Given the description of an element on the screen output the (x, y) to click on. 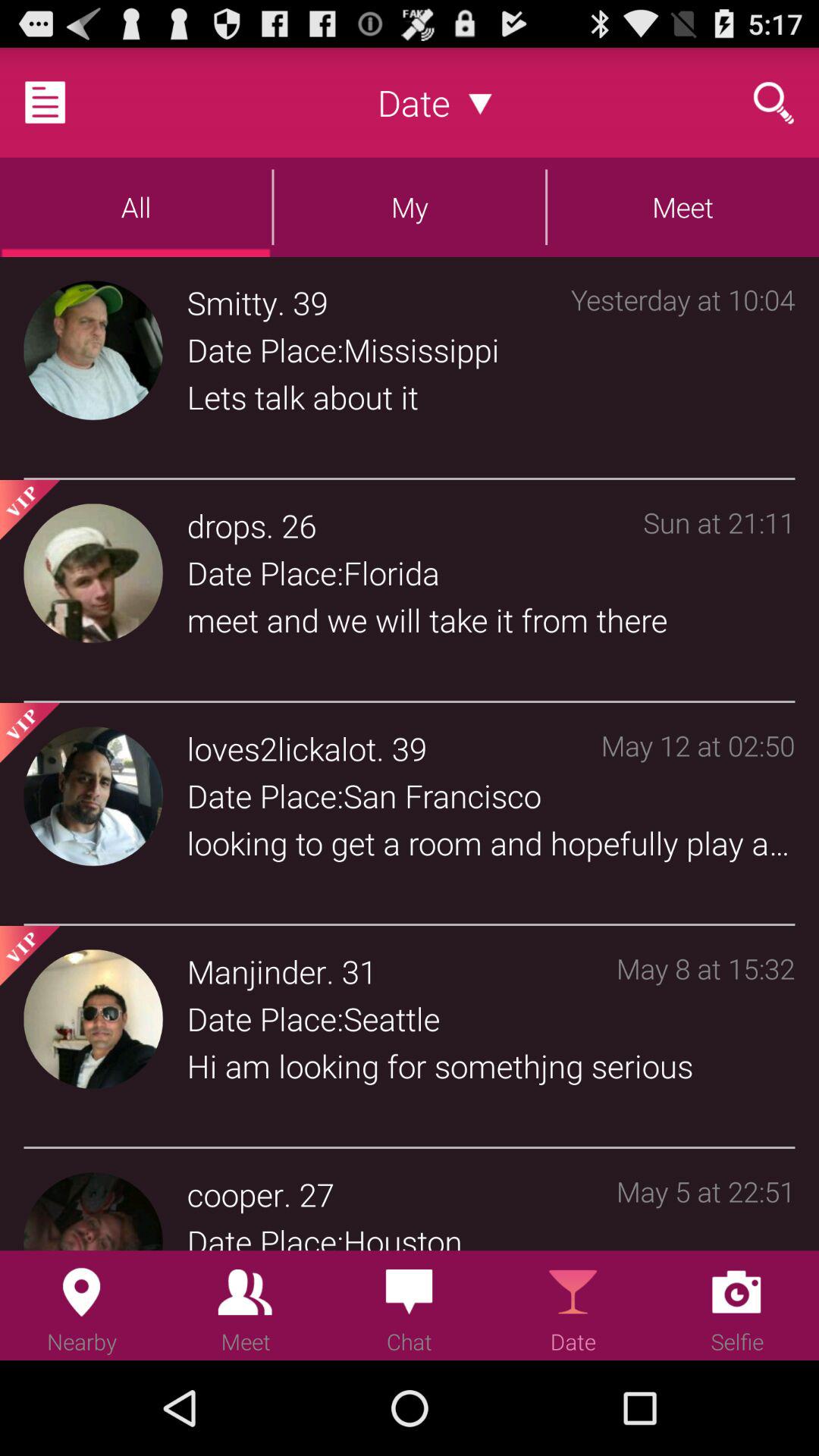
scroll to the 26 app (298, 525)
